Given the description of an element on the screen output the (x, y) to click on. 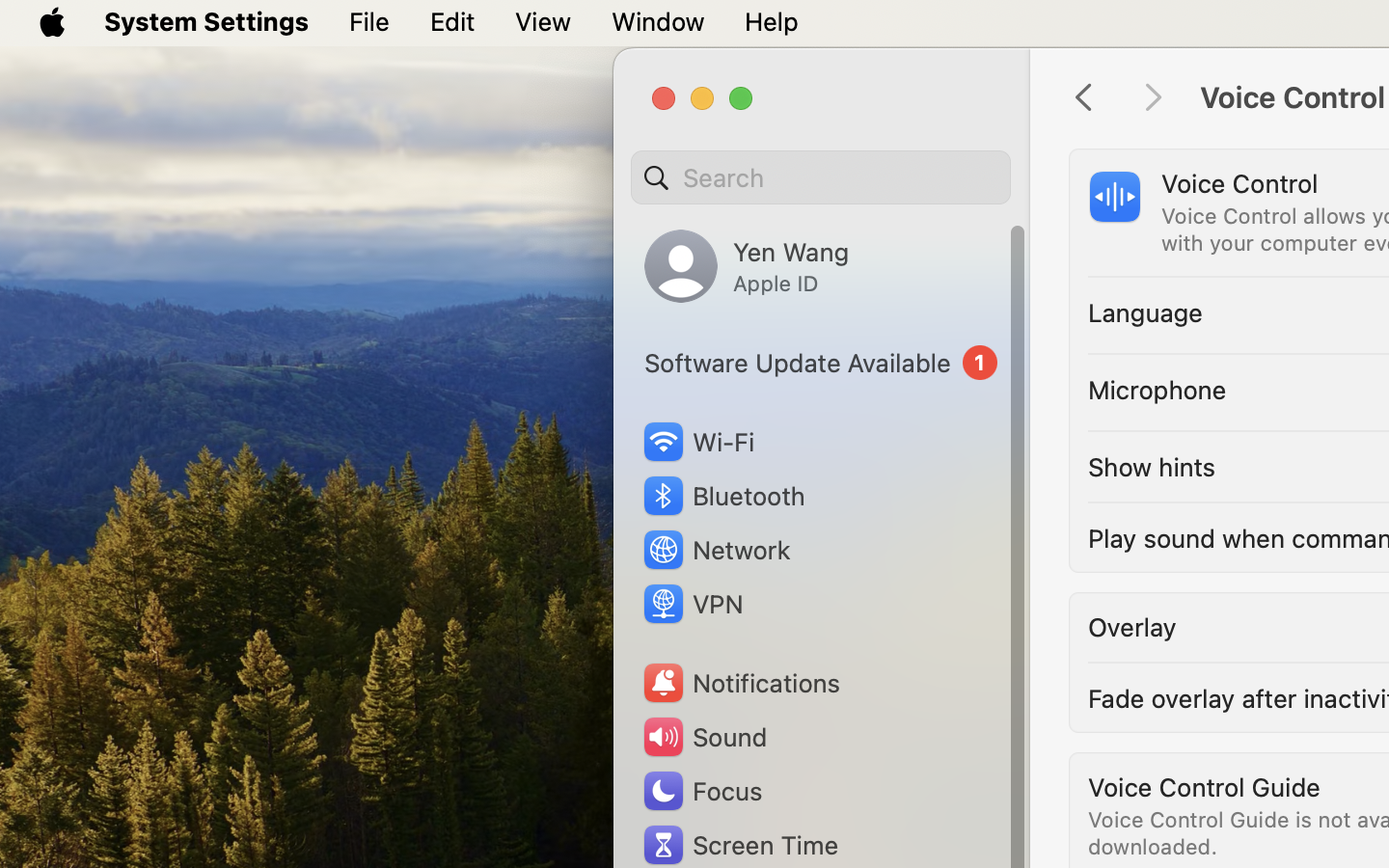
Voice Control Guide Element type: AXStaticText (1204, 786)
Yen Wang, Apple ID Element type: AXStaticText (746, 265)
Show hints Element type: AXStaticText (1151, 466)
Microphone Element type: AXStaticText (1157, 389)
Notifications Element type: AXStaticText (740, 682)
